Given the description of an element on the screen output the (x, y) to click on. 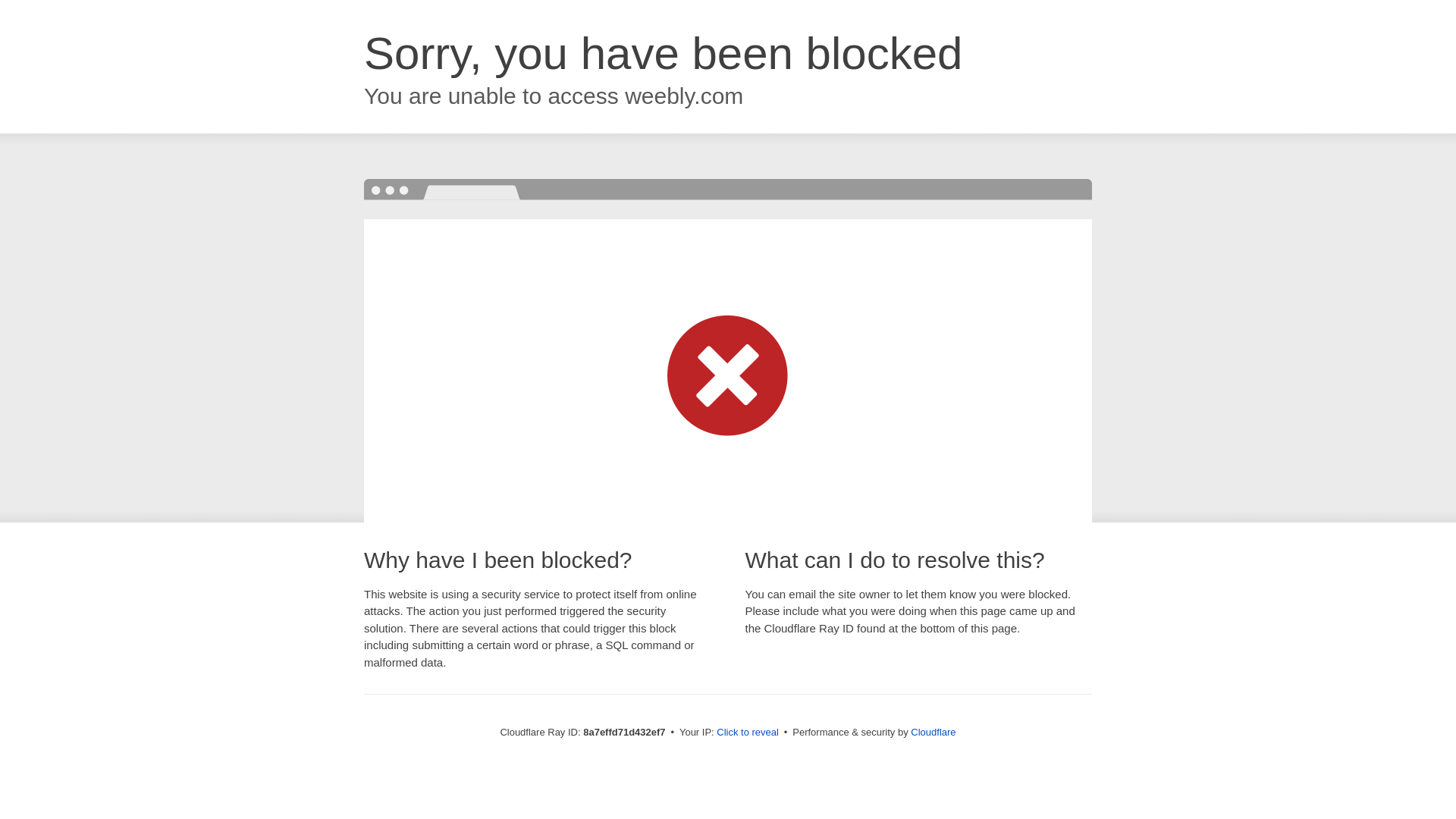
Click to reveal (747, 732)
Cloudflare (933, 731)
